Given the description of an element on the screen output the (x, y) to click on. 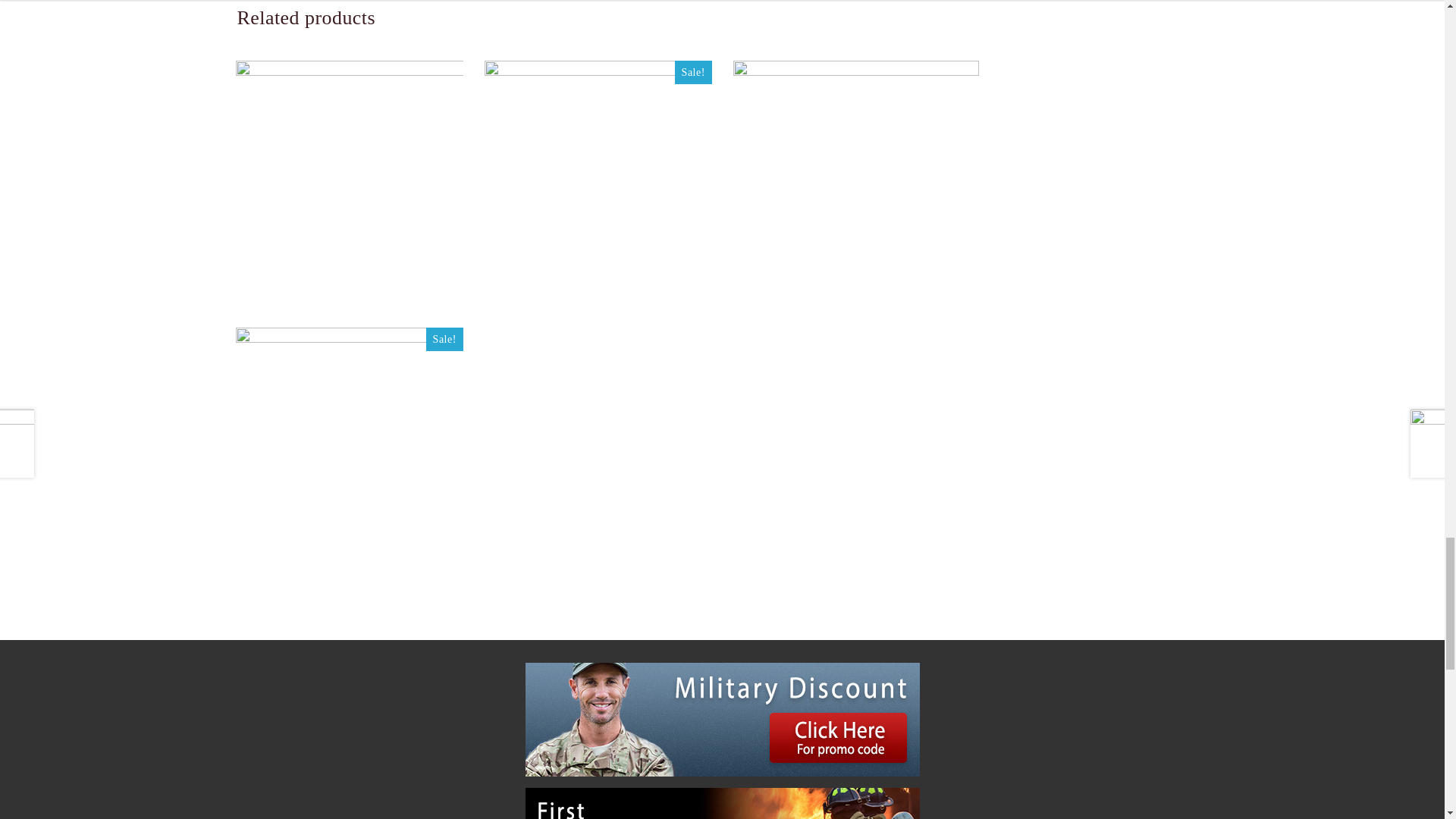
Sale! (597, 174)
